Given the description of an element on the screen output the (x, y) to click on. 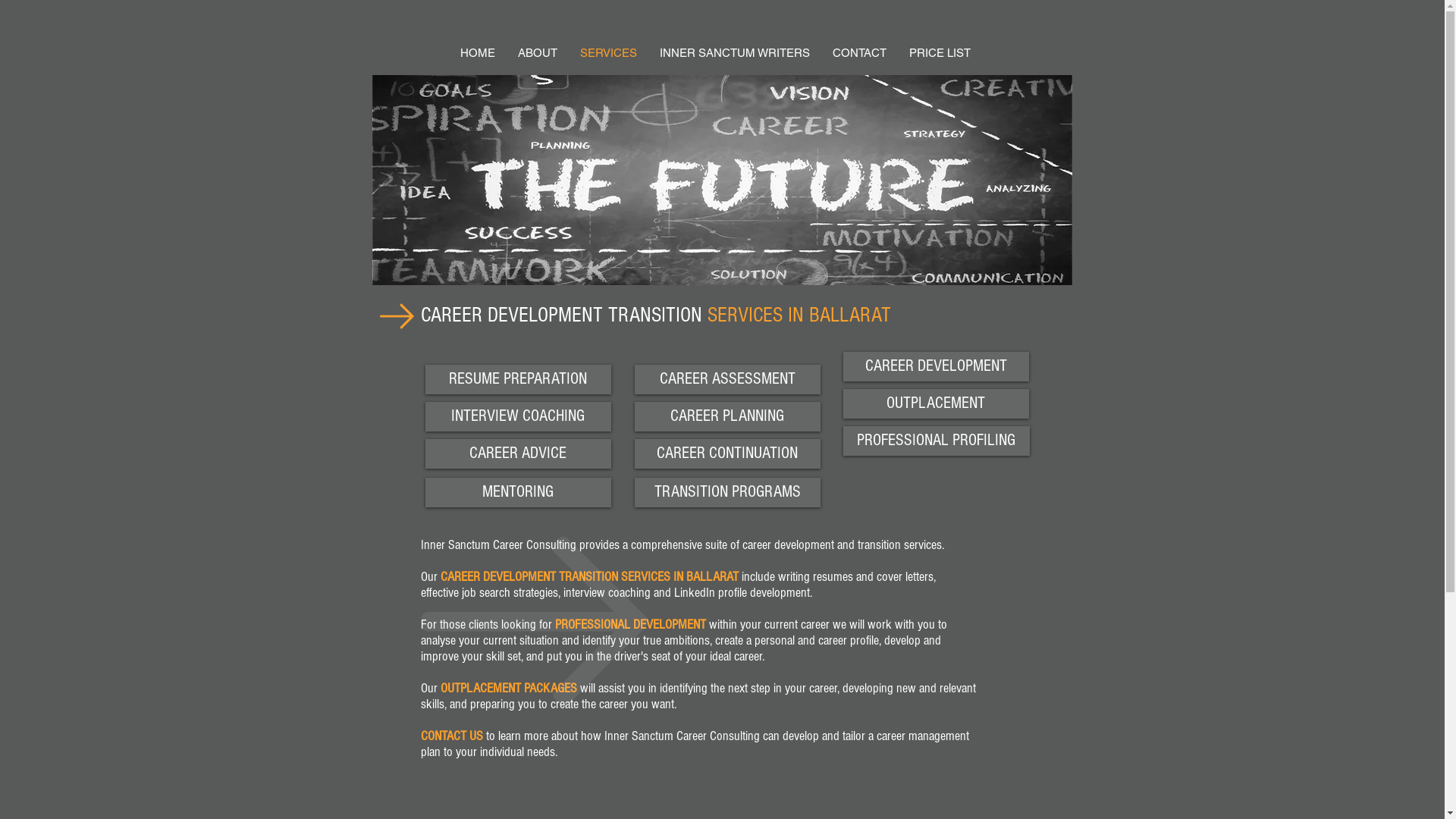
INTERVIEW COACHING Element type: text (517, 416)
PROFESSIONAL DEVELOPMENT Element type: text (630, 624)
CONTACT Element type: text (858, 53)
CAREER PLANNING Element type: text (726, 416)
ABOUT Element type: text (537, 53)
HOME Element type: text (477, 53)
OUTPLACEMENT PACKAGES Element type: text (507, 688)
Career Development Transition Services in Ballarat Element type: hover (721, 180)
CAREER DEVELOPMENT Element type: text (936, 366)
PROFESSIONAL PROFILING Element type: text (936, 440)
MENTORING Element type: text (517, 492)
OUTPLACEMENT Element type: text (936, 403)
PRICE LIST Element type: text (939, 53)
CAREER CONTINUATION Element type: text (726, 453)
CONTACT US Element type: text (451, 735)
Site Search Element type: hover (1024, 13)
CAREER DEVELOPMENT TRANSITION Element type: text (528, 576)
TRANSITION PROGRAMS Element type: text (726, 492)
SERVICES Element type: text (608, 53)
INNER SANCTUM WRITERS Element type: text (733, 53)
CAREER ASSESSMENT Element type: text (726, 379)
RESUME PREPARATION Element type: text (517, 379)
CAREER ADVICE Element type: text (517, 453)
